Given the description of an element on the screen output the (x, y) to click on. 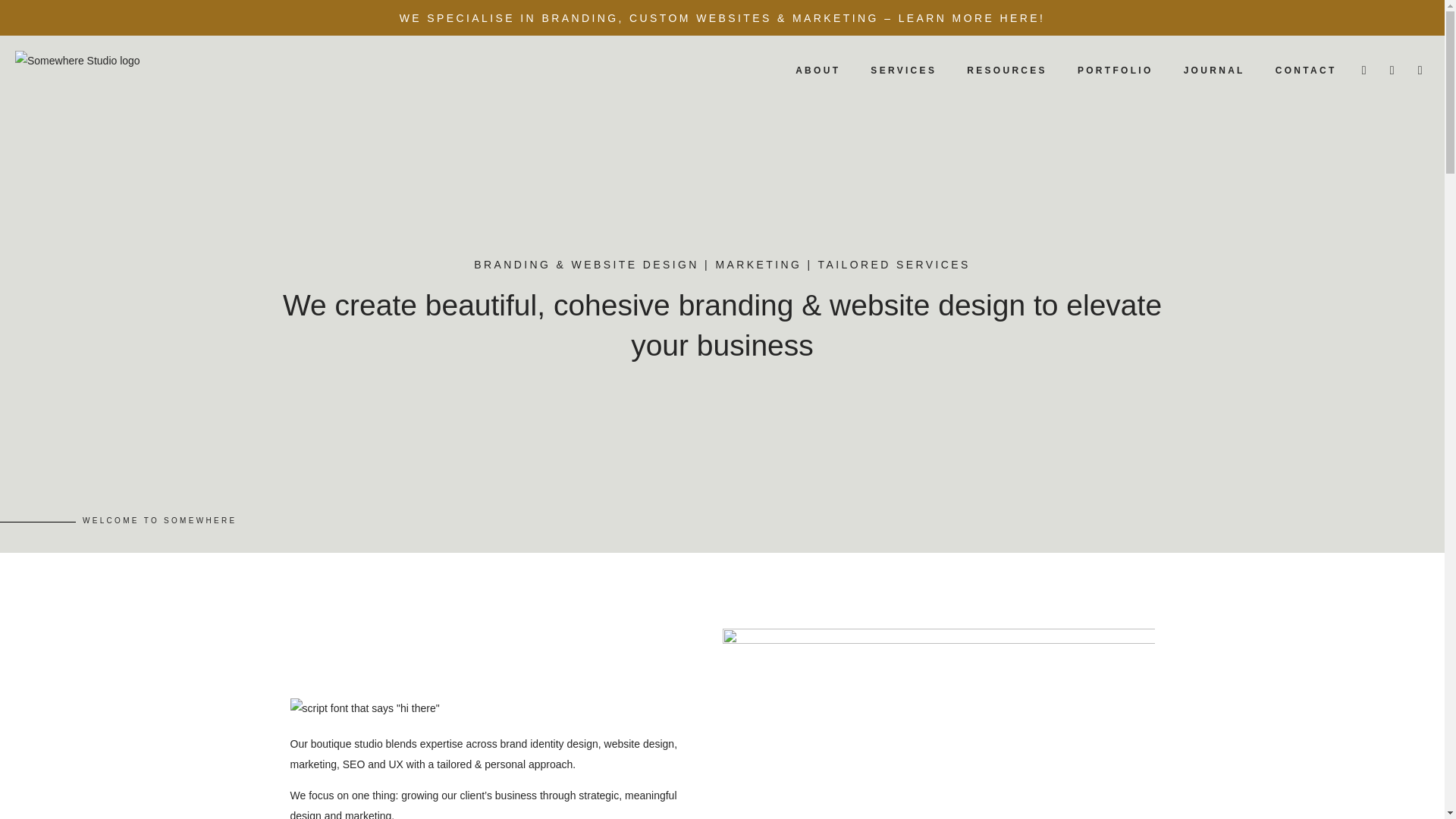
PORTFOLIO (1115, 70)
ABOUT (818, 70)
SERVICES (904, 70)
JOURNAL (1214, 70)
RESOURCES (1007, 70)
CONTACT (1306, 70)
